Given the description of an element on the screen output the (x, y) to click on. 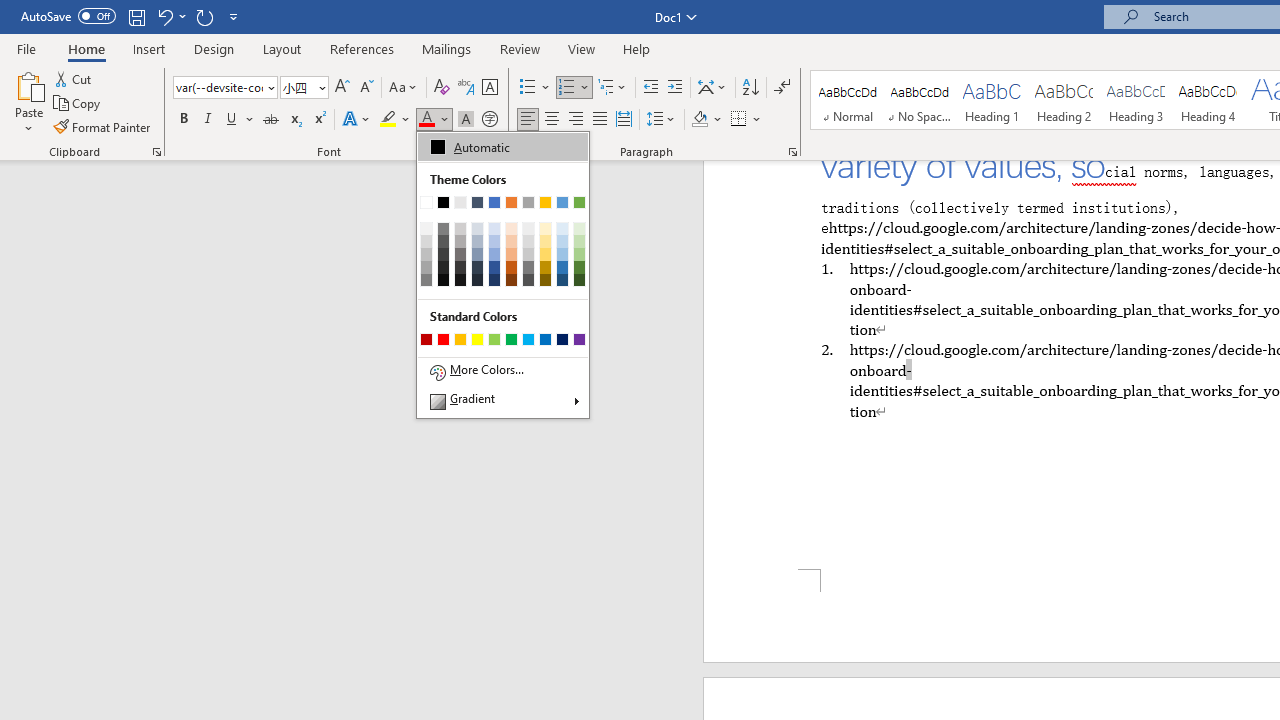
Heading 3 (1135, 100)
Heading 4 (1208, 100)
